Given the description of an element on the screen output the (x, y) to click on. 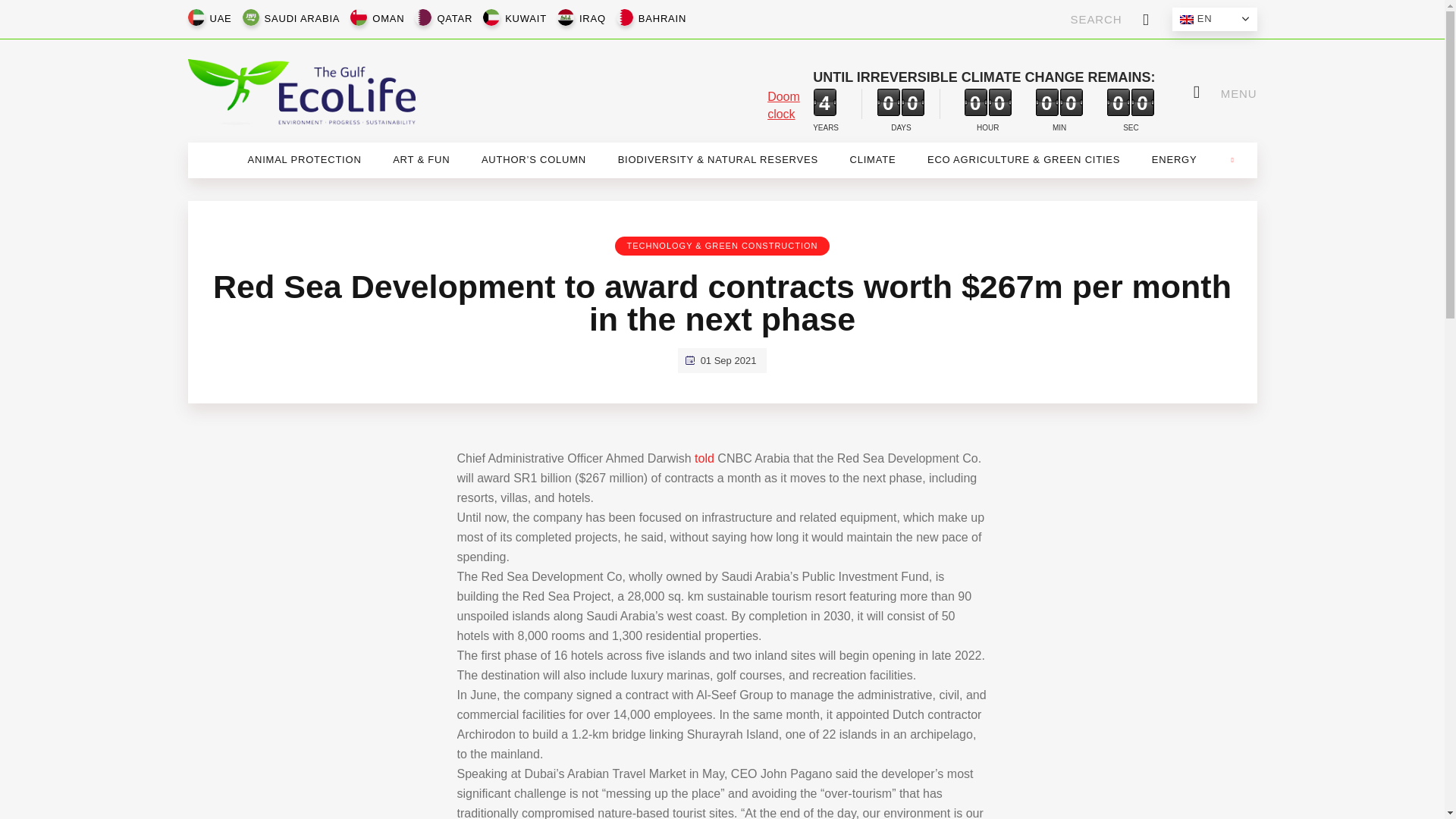
SEARCH (1110, 19)
OMAN (388, 19)
SAUDI ARABIA (302, 19)
QATAR (454, 19)
UAE (220, 19)
IRAQ (592, 19)
KUWAIT (525, 19)
BAHRAIN (662, 19)
